Given the description of an element on the screen output the (x, y) to click on. 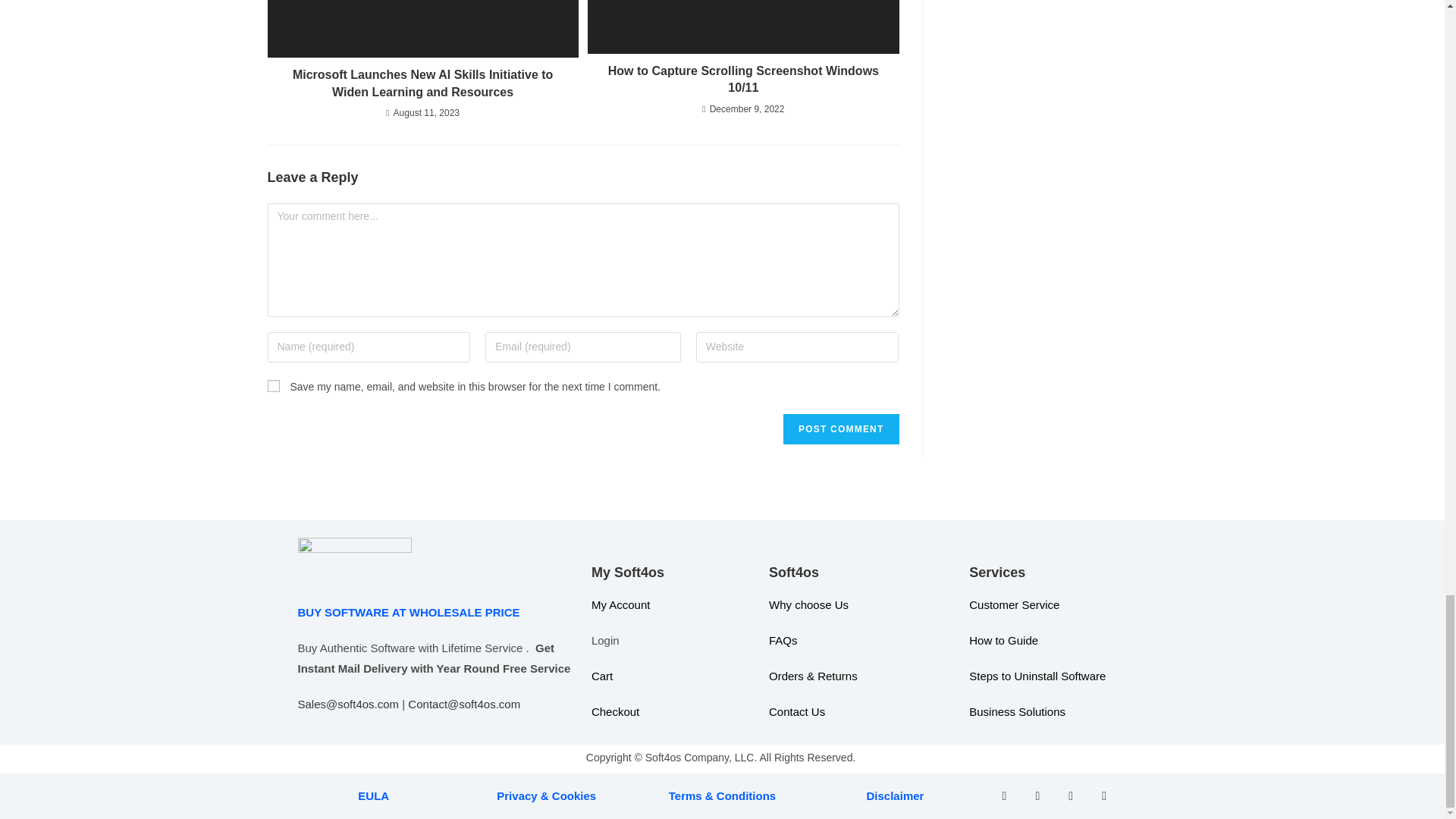
yes (272, 386)
Post Comment (840, 429)
